Given the description of an element on the screen output the (x, y) to click on. 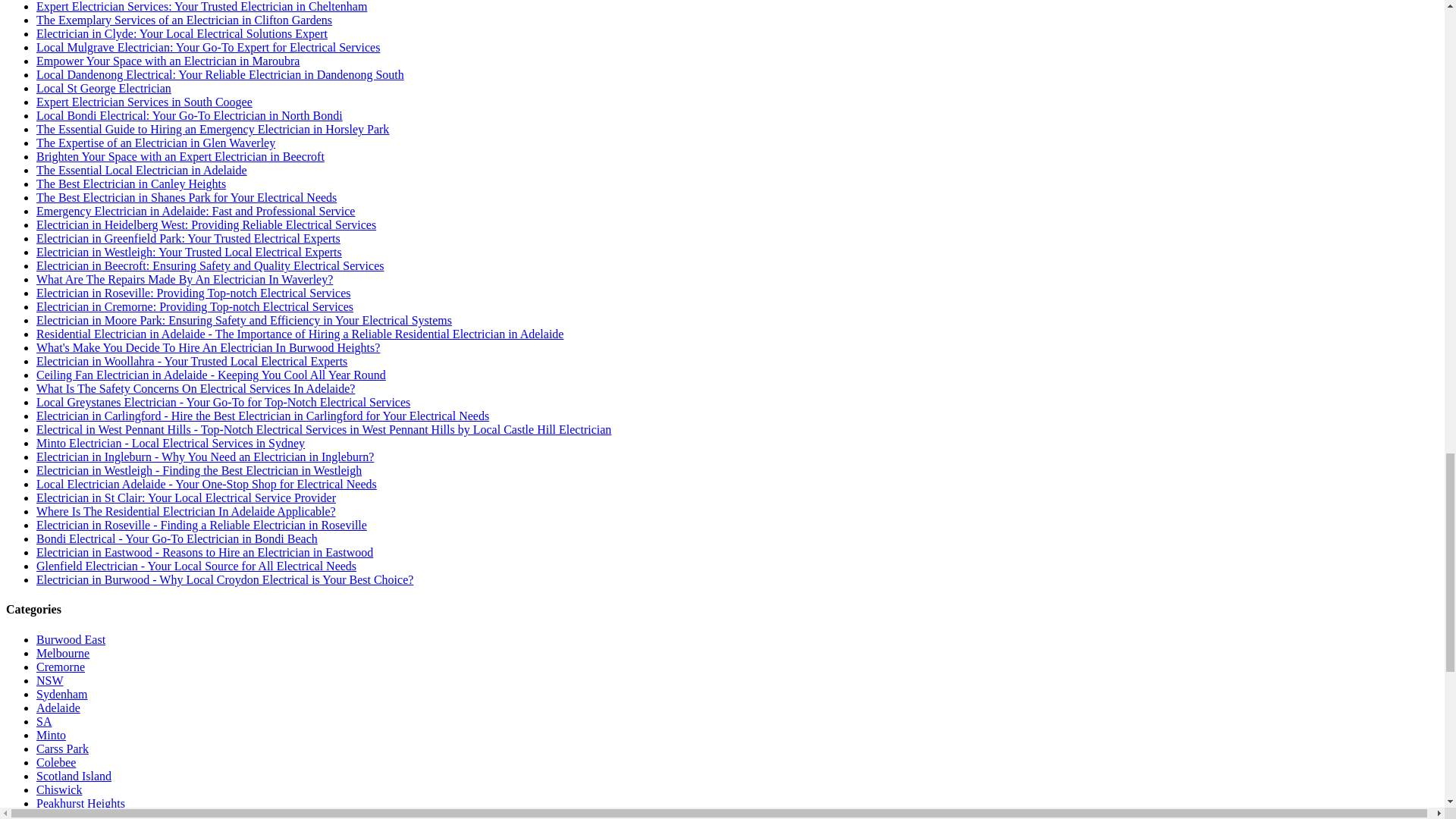
The Best Electrician in Canley Heights (130, 183)
Local St George Electrician (103, 88)
Expert Electrician Services in South Coogee (143, 101)
Empower Your Space with an Electrician in Maroubra (167, 60)
The Essential Local Electrician in Adelaide (141, 169)
Electrician in Clyde: Your Local Electrical Solutions Expert (181, 33)
Brighten Your Space with an Expert Electrician in Beecroft (180, 155)
The Exemplary Services of an Electrician in Clifton Gardens (183, 19)
